Given the description of an element on the screen output the (x, y) to click on. 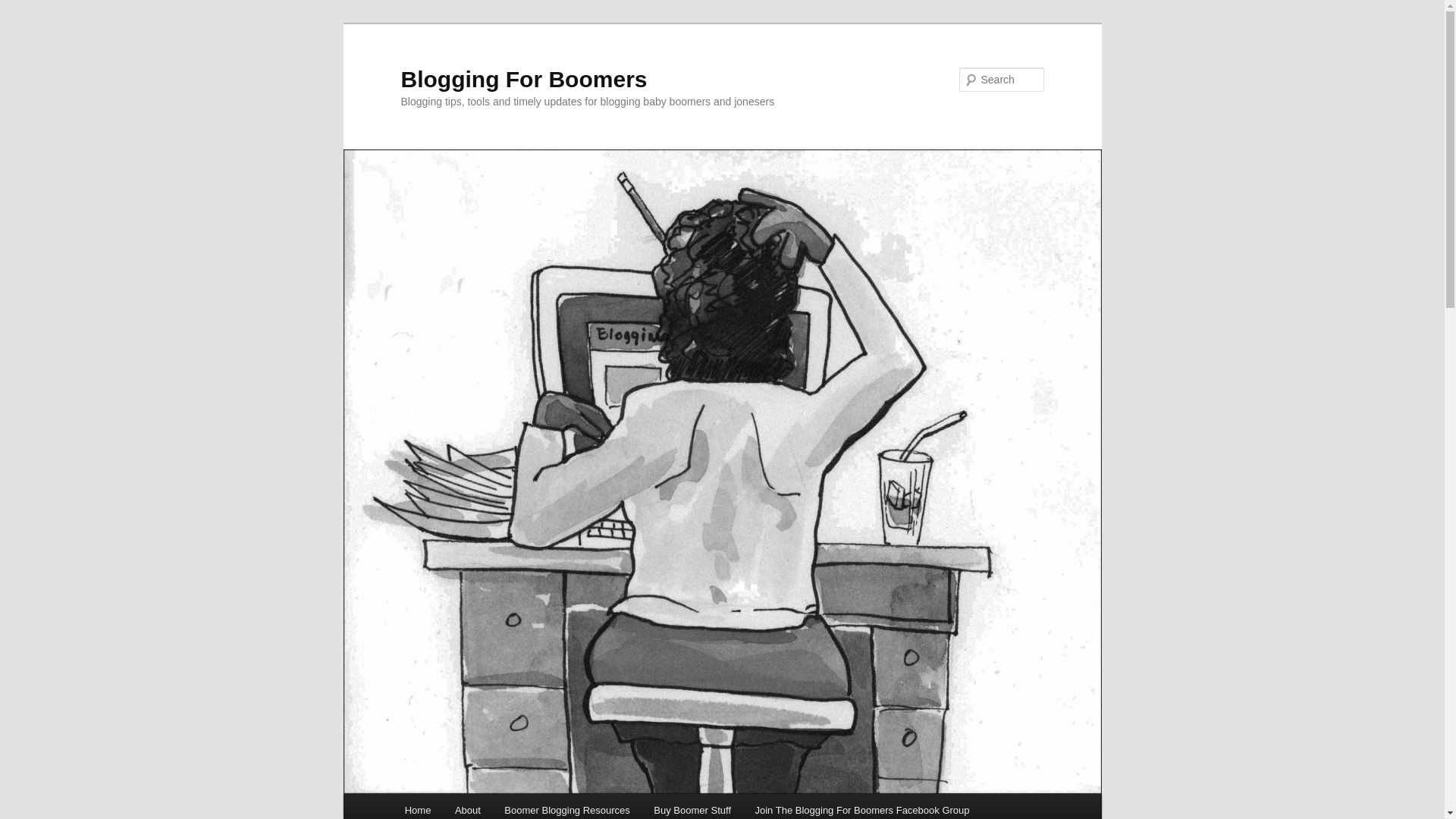
Boomer Blogging Resources (567, 806)
Search (24, 8)
Join The Blogging For Boomers Facebook Group (861, 806)
Buy Boomer Stuff (692, 806)
Blogging For Boomers (523, 78)
Home (417, 806)
About (467, 806)
